Given the description of an element on the screen output the (x, y) to click on. 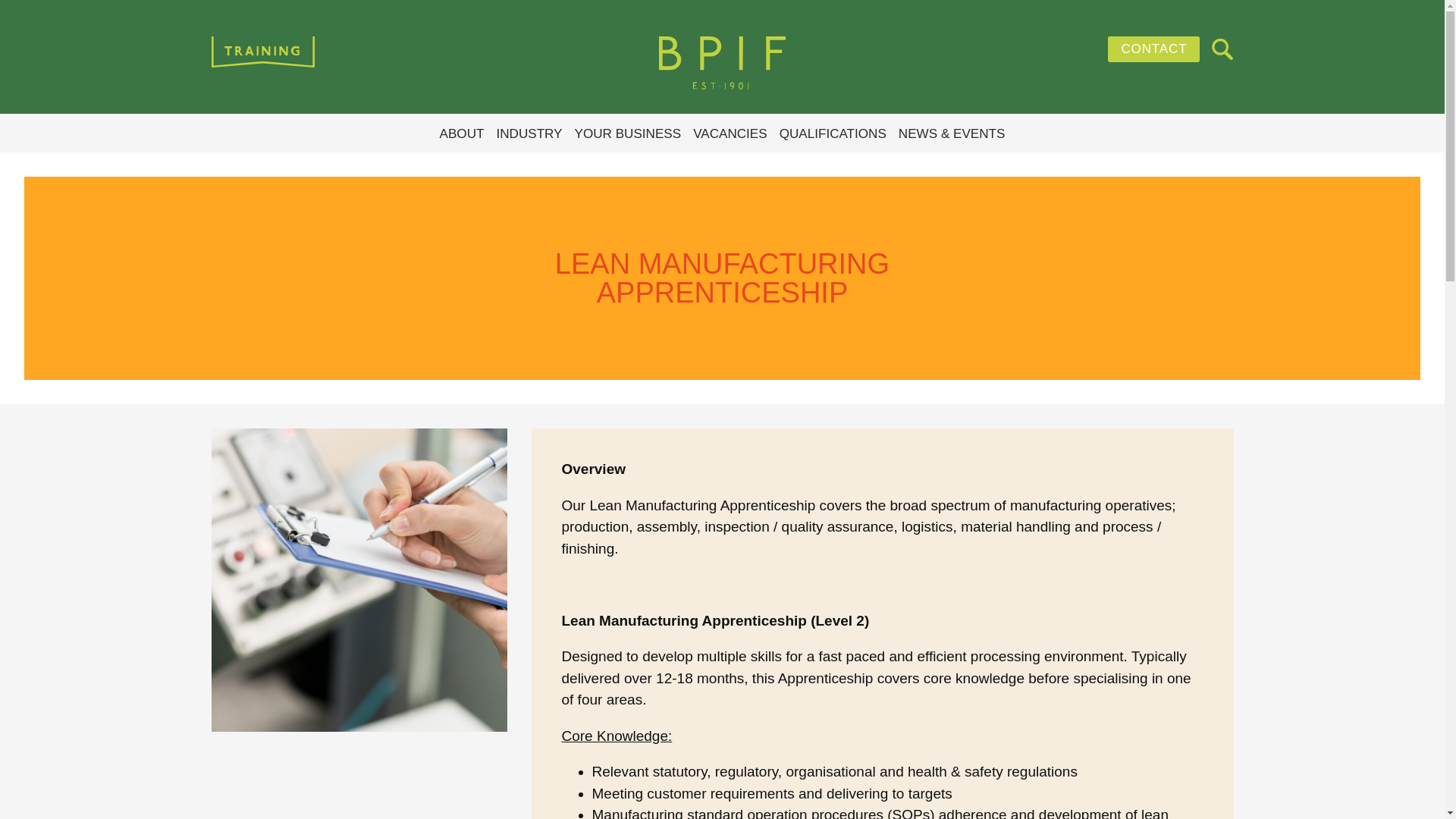
QUALIFICATIONS (832, 134)
BPIF Training (721, 62)
YOUR BUSINESS (628, 134)
INDUSTRY (529, 134)
VACANCIES (730, 134)
Toggle search bar (1222, 48)
ABOUT (461, 134)
CONTACT (1153, 49)
